Given the description of an element on the screen output the (x, y) to click on. 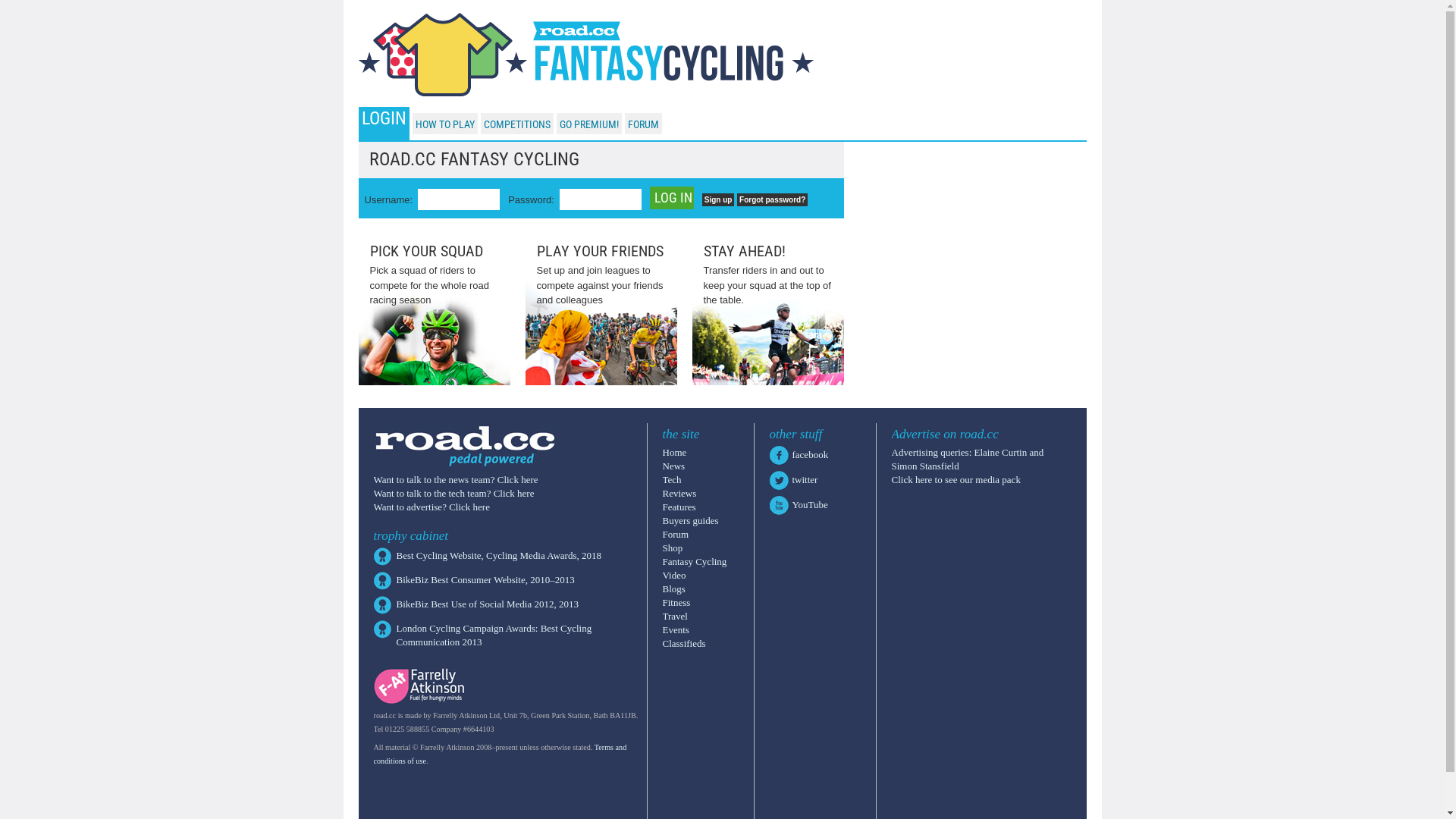
Buyers guides Element type: text (690, 519)
Home Element type: text (674, 451)
Blogs Element type: text (673, 587)
Classifieds Element type: text (684, 642)
London Cycling Campaign Element type: text (449, 627)
News Element type: text (673, 464)
COMPETITIONS Element type: text (516, 124)
Shop Element type: text (672, 546)
GO PREMIUM! Element type: text (588, 124)
Elaine Curtin and Simon Stansfield Element type: text (967, 457)
twitter Element type: text (804, 478)
Click here Element type: text (468, 505)
facebook Element type: text (809, 454)
YouTube Element type: text (809, 504)
Forum Element type: text (675, 533)
Fitness Element type: text (676, 601)
FORUM Element type: text (642, 124)
Click here Element type: text (513, 492)
Travel Element type: text (674, 615)
Sign up Element type: text (718, 199)
Features Element type: text (679, 505)
Fantasy Cycling Element type: text (694, 560)
HOW TO PLAY Element type: text (444, 124)
LOGIN Element type: text (382, 117)
Video Element type: text (674, 574)
Terms and conditions of use Element type: text (499, 754)
Tech Element type: text (671, 478)
Reviews Element type: text (679, 492)
Click here Element type: text (517, 478)
BikeBiz Element type: text (411, 578)
Events Element type: text (675, 628)
BikeBiz Element type: text (411, 602)
Click here to see our media pack Element type: text (955, 478)
Forgot password? Element type: text (772, 199)
Log in Element type: text (671, 197)
